Given the description of an element on the screen output the (x, y) to click on. 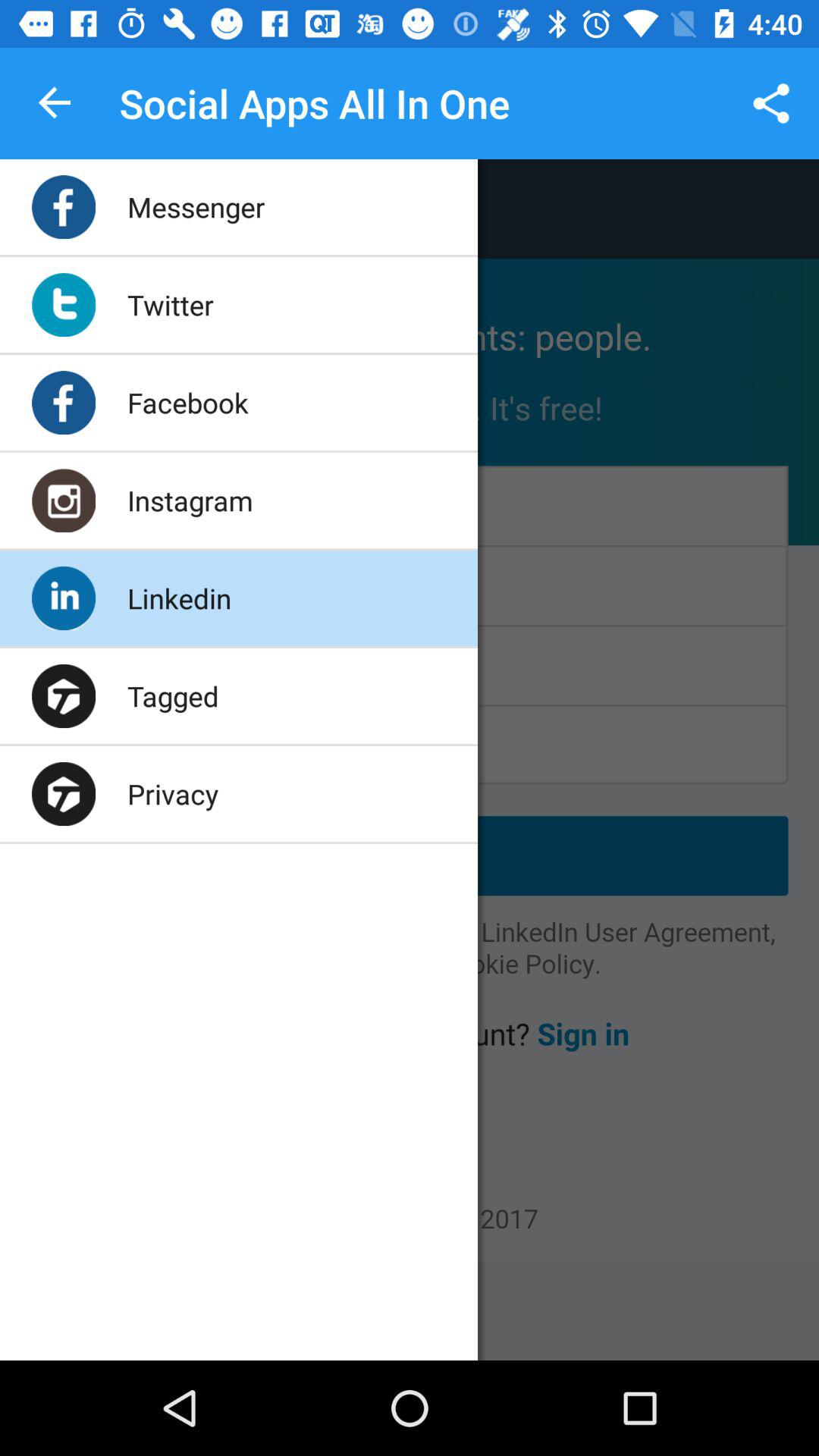
choose the linkedin app (179, 598)
